Given the description of an element on the screen output the (x, y) to click on. 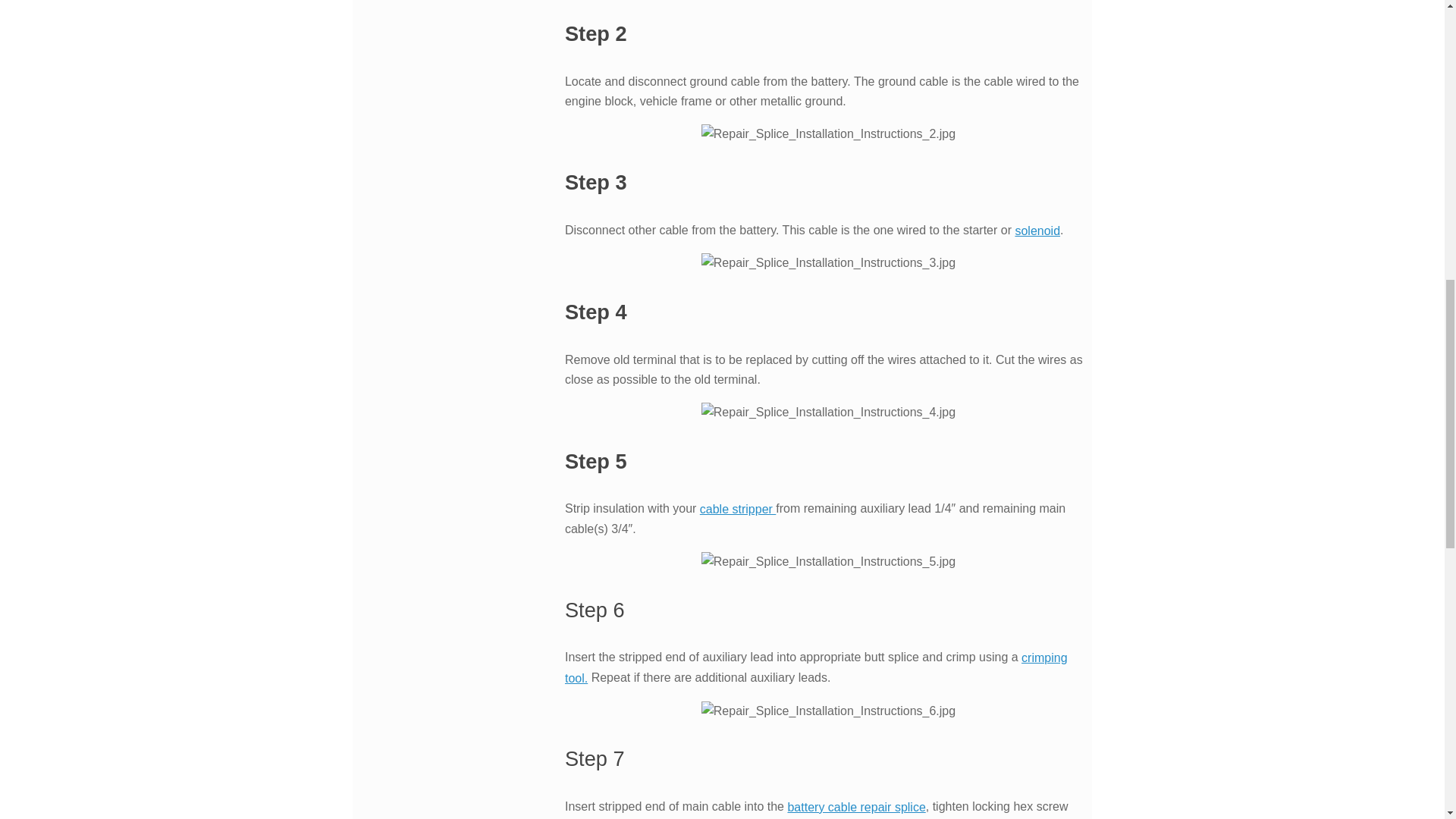
solenoid (1036, 230)
cable stripper (738, 508)
crimping tool. (815, 667)
battery cable repair splice (855, 807)
